Given the description of an element on the screen output the (x, y) to click on. 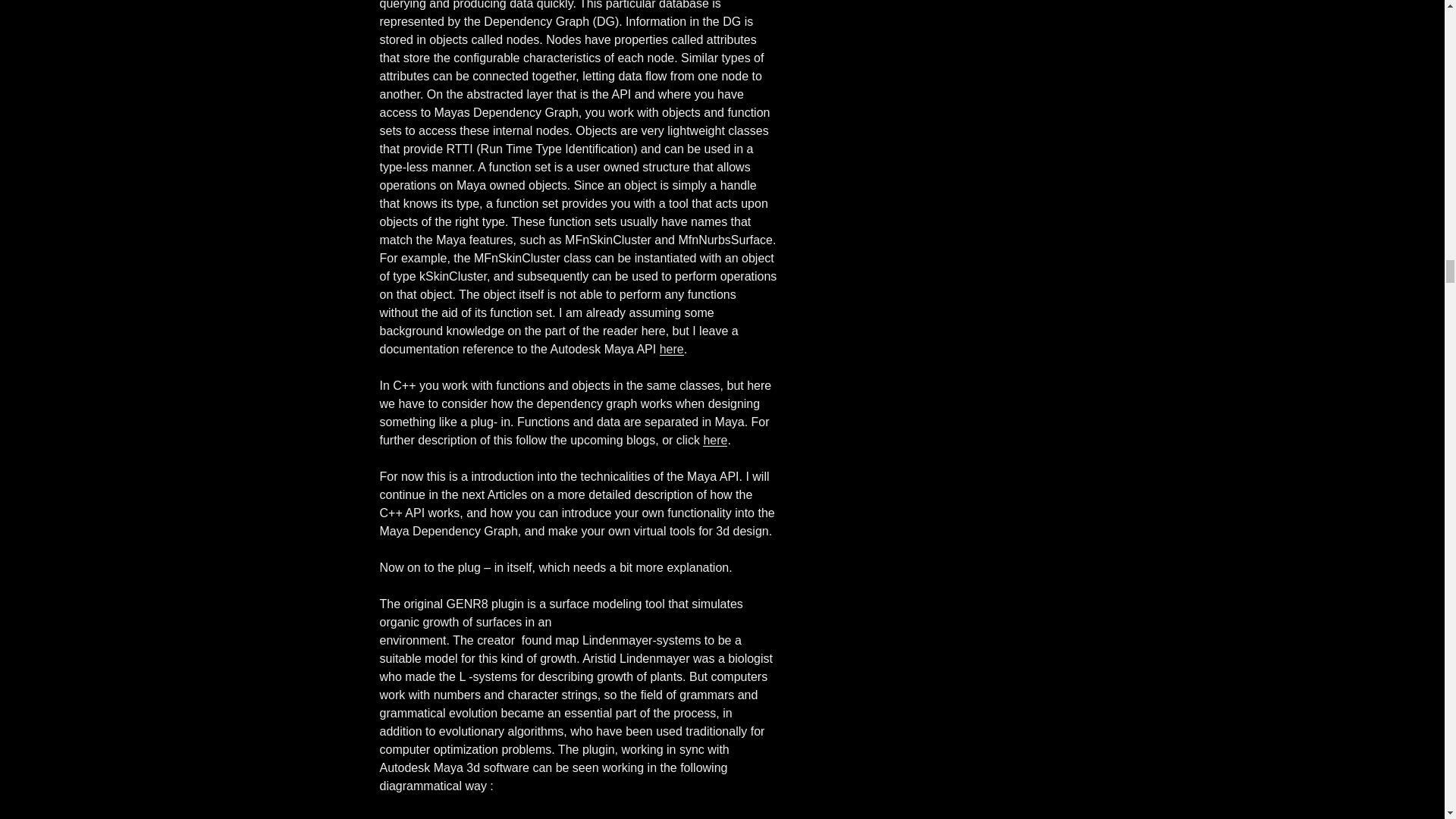
Autodesk Maya API (714, 440)
here (671, 349)
here (714, 440)
